Given the description of an element on the screen output the (x, y) to click on. 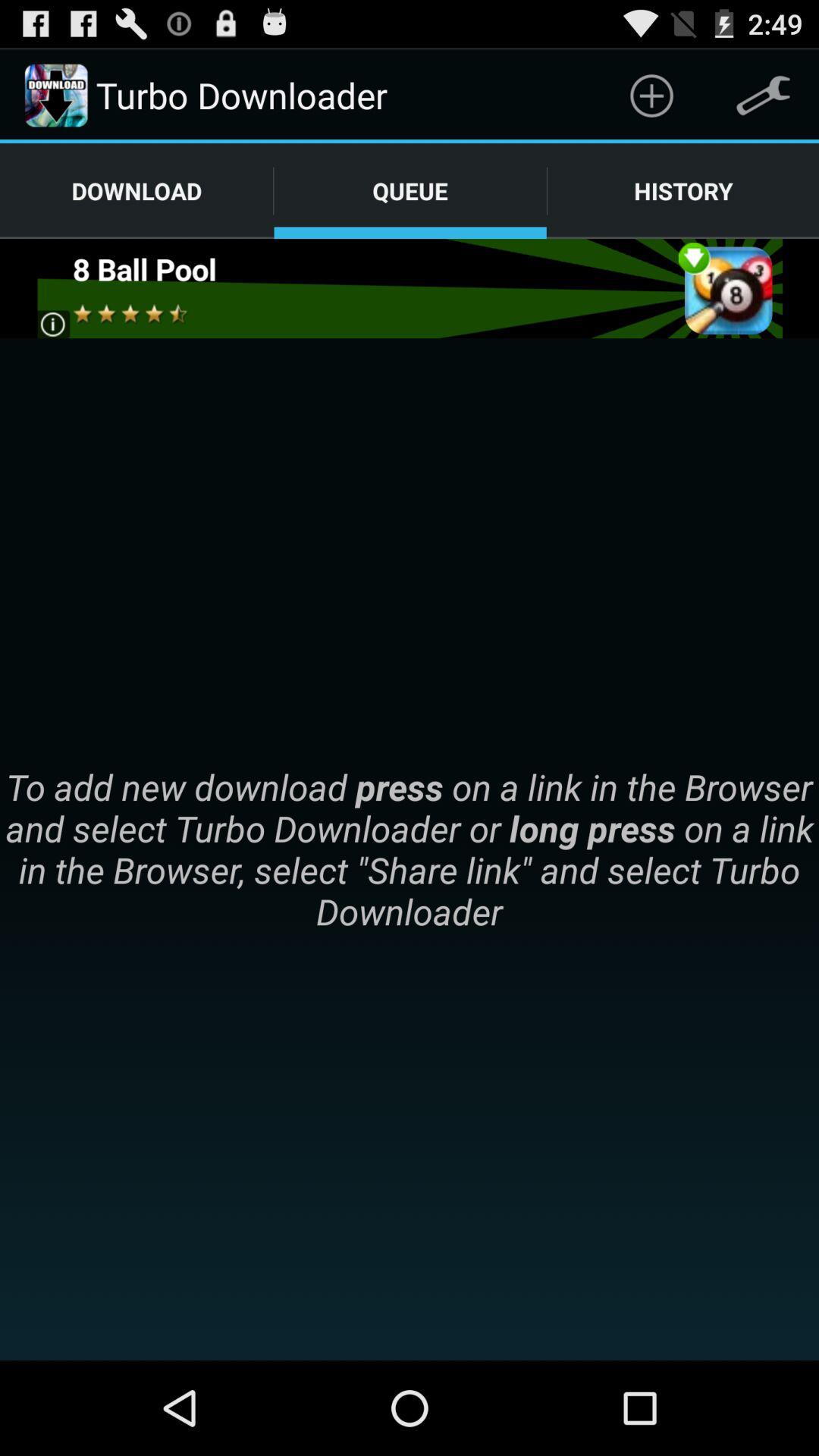
8ballpool (408, 288)
